Given the description of an element on the screen output the (x, y) to click on. 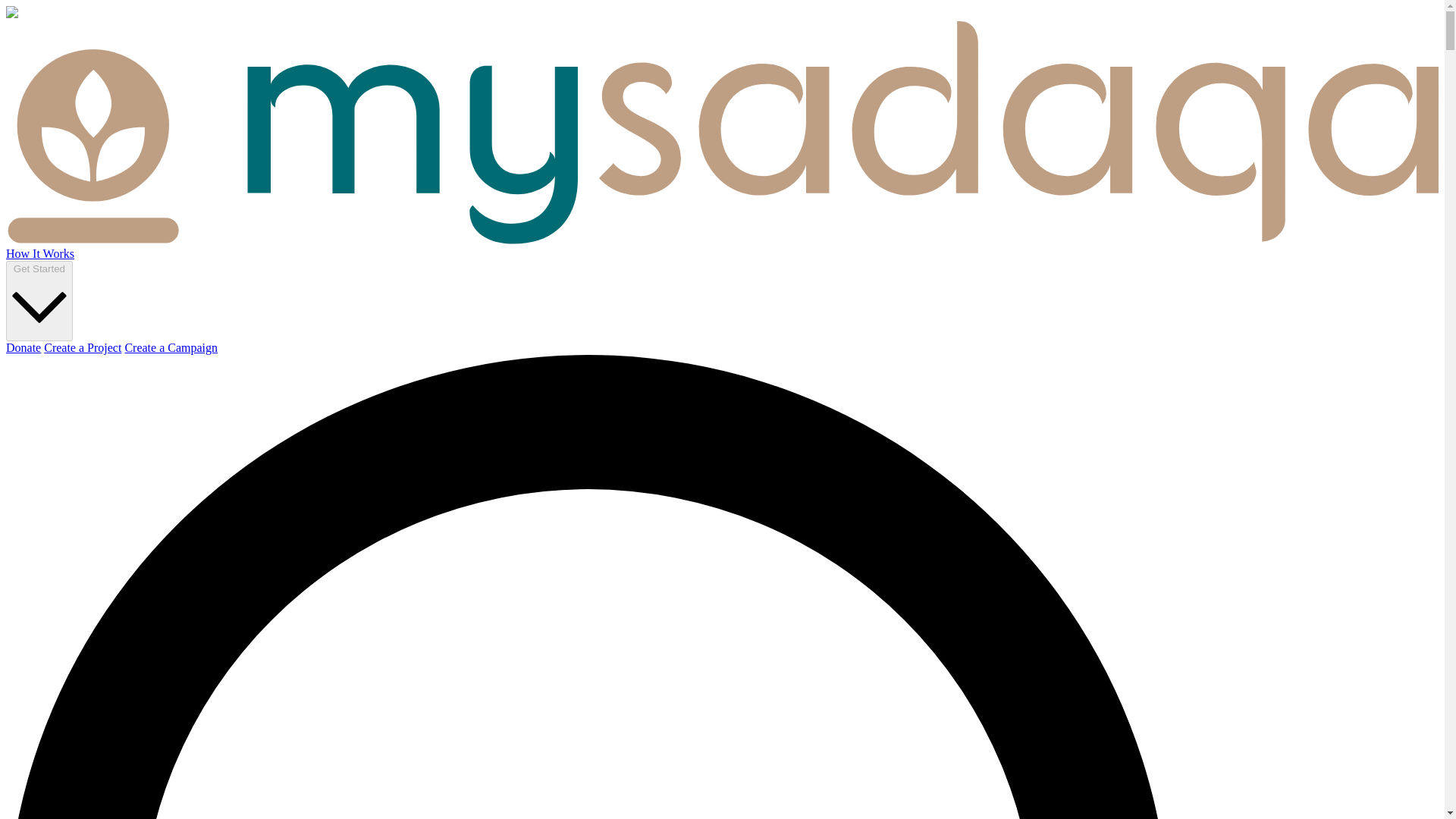
Donate (22, 347)
Create a Campaign (169, 347)
How It Works (39, 253)
Create a Project (81, 347)
